Given the description of an element on the screen output the (x, y) to click on. 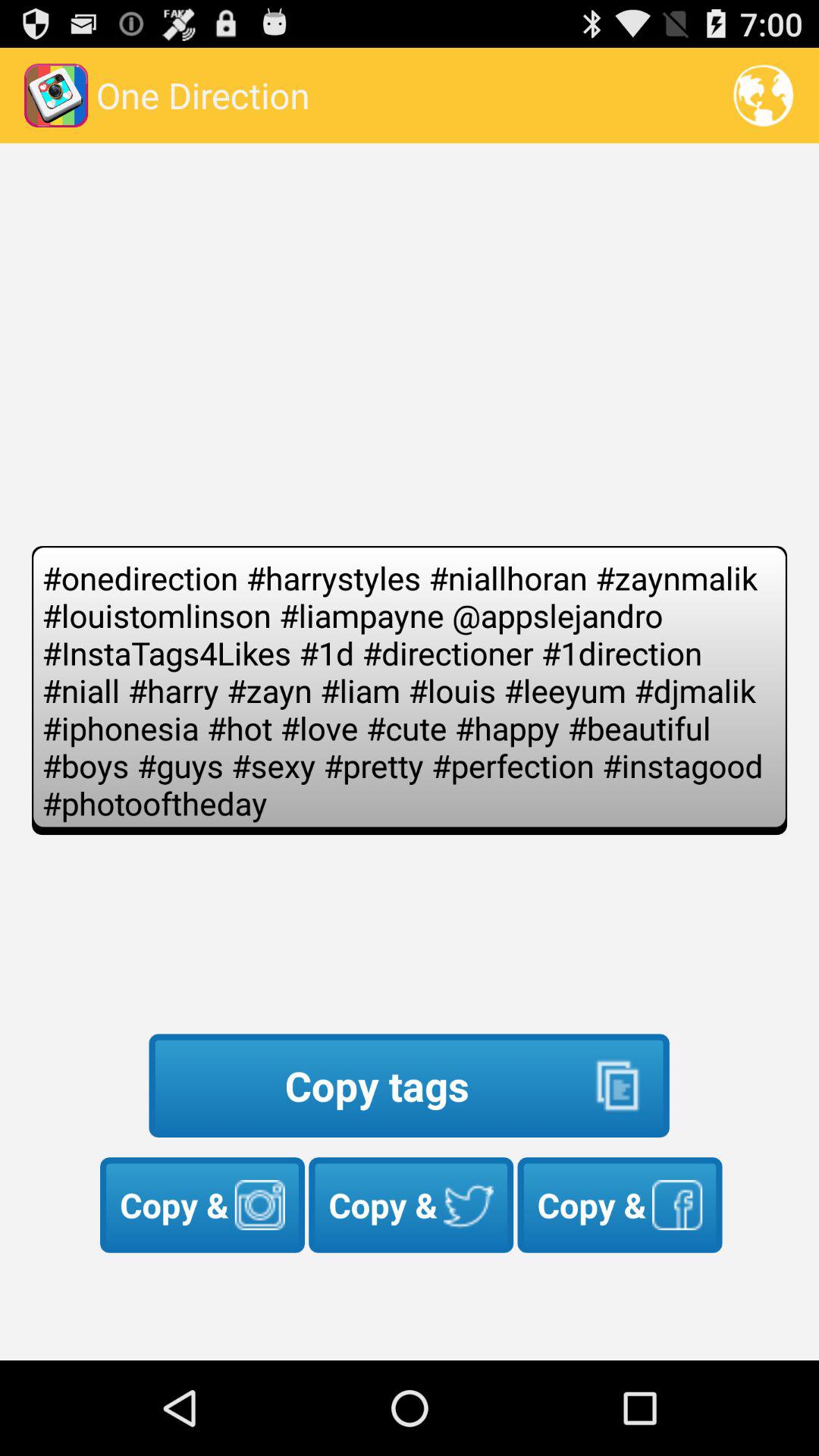
turn off icon above copy & (409, 1085)
